Given the description of an element on the screen output the (x, y) to click on. 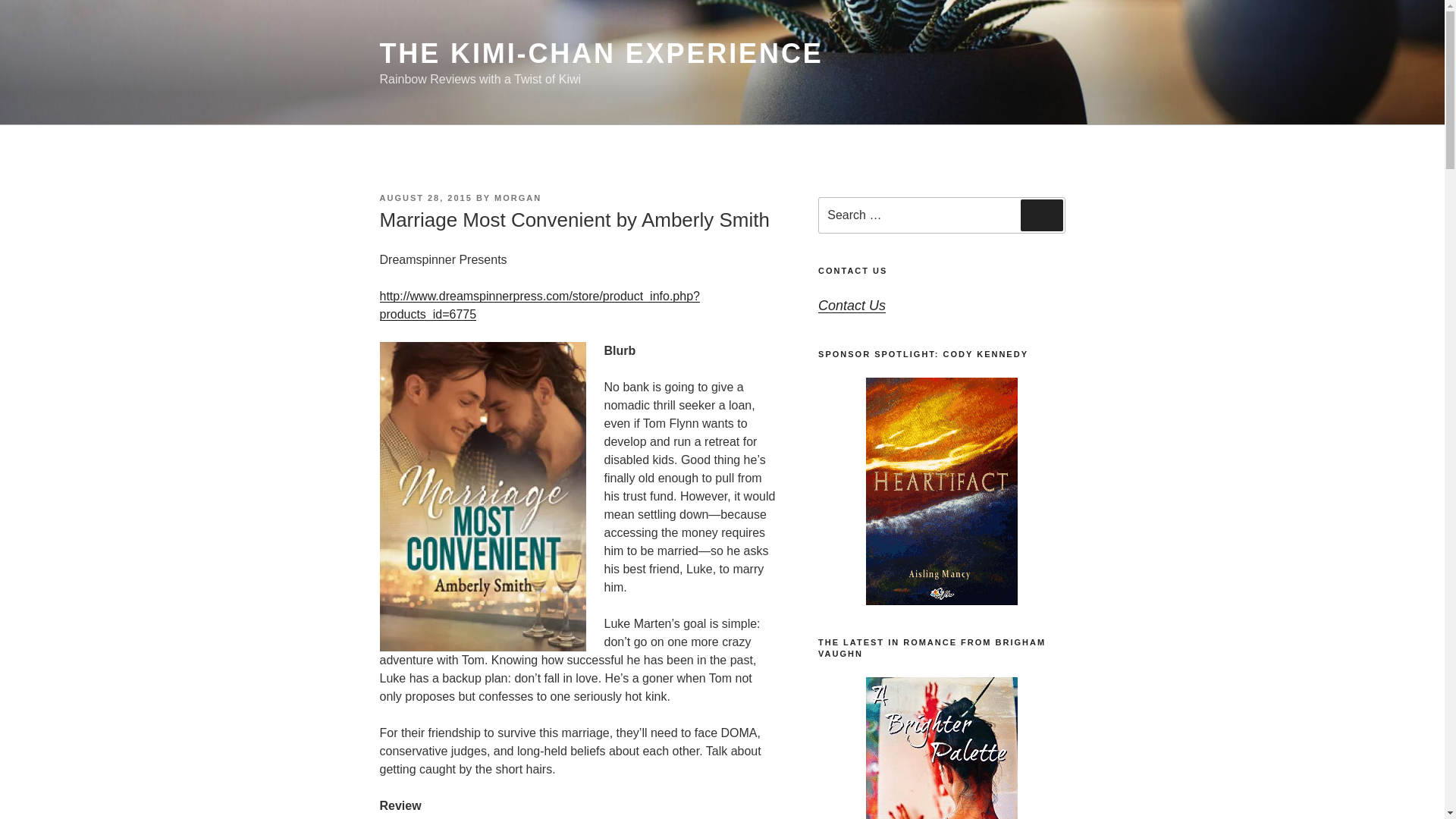
CONTACT US (852, 270)
Contact Us (851, 305)
Search (1041, 214)
THE KIMI-CHAN EXPERIENCE (600, 52)
MORGAN (518, 197)
AUGUST 28, 2015 (424, 197)
